Given the description of an element on the screen output the (x, y) to click on. 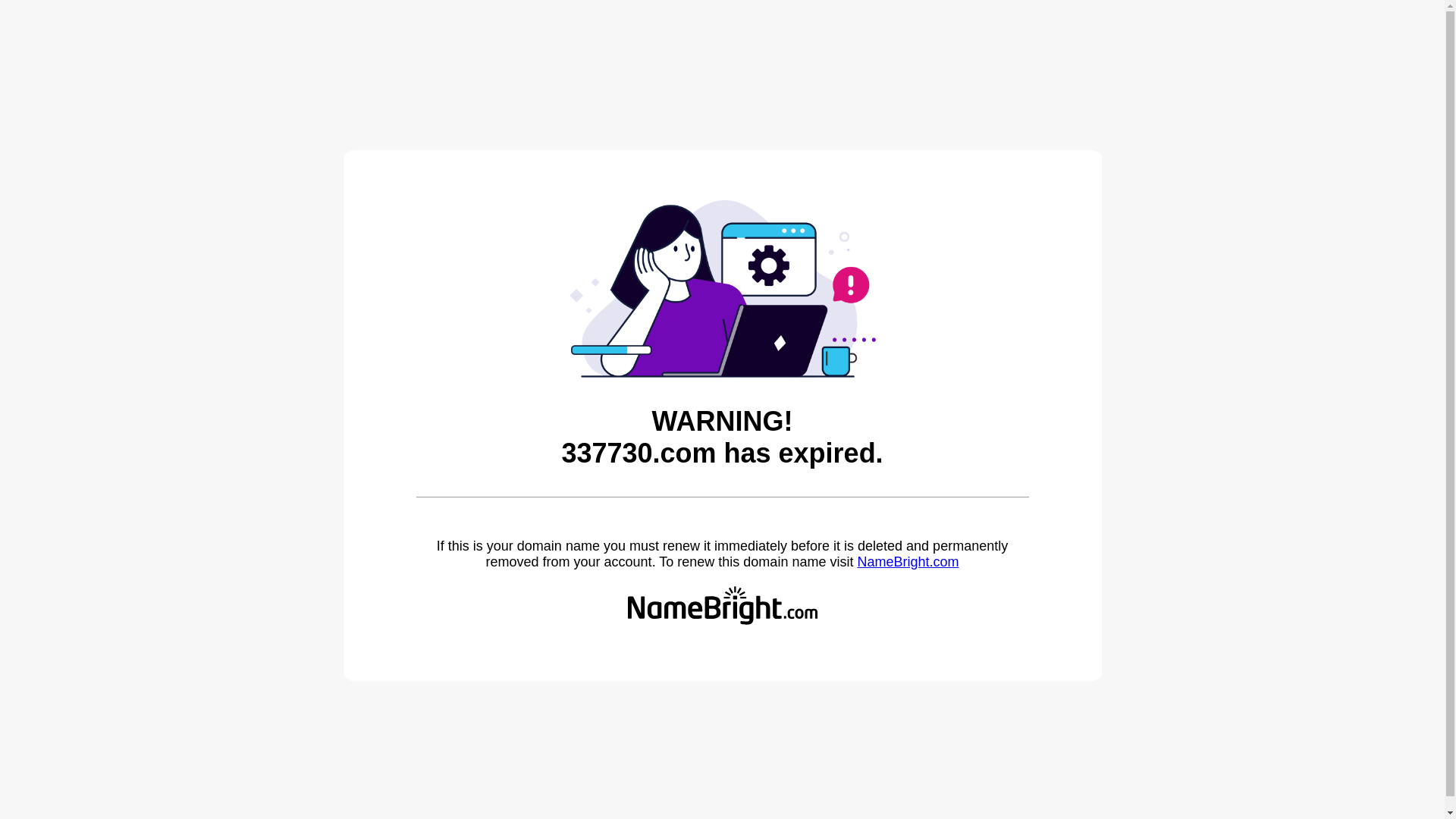
NameBright.com Element type: text (907, 561)
